Given the description of an element on the screen output the (x, y) to click on. 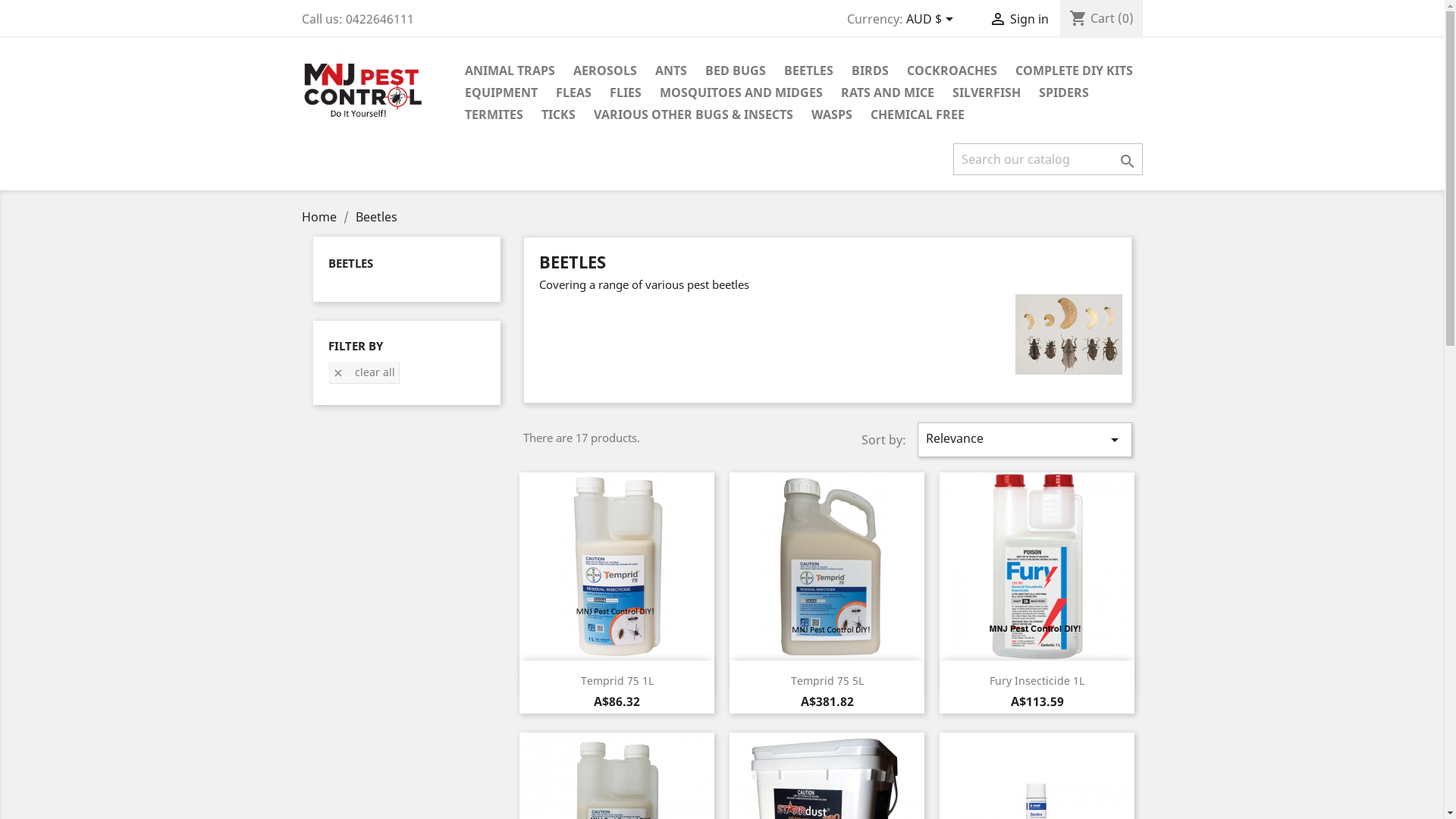
TICKS Element type: text (558, 115)
COMPLETE DIY KITS Element type: text (1073, 71)
BED BUGS Element type: text (735, 71)
WASPS Element type: text (831, 115)
Fury Insecticide 1L Element type: text (1036, 680)
EQUIPMENT Element type: text (500, 93)
Beetles Element type: text (375, 216)
Home Element type: text (320, 216)
SPIDERS Element type: text (1063, 93)
CHEMICAL FREE Element type: text (917, 115)
AEROSOLS Element type: text (604, 71)
VARIOUS OTHER BUGS & INSECTS Element type: text (692, 115)
RATS AND MICE Element type: text (886, 93)
COCKROACHES Element type: text (951, 71)
SILVERFISH Element type: text (986, 93)
FLEAS Element type: text (572, 93)
Temprid 75 1L Element type: text (616, 680)
Temprid 75 5L Element type: text (826, 680)
BEETLES Element type: text (349, 262)
BEETLES Element type: text (808, 71)
MOSQUITOES AND MIDGES Element type: text (741, 93)
TERMITES Element type: text (493, 115)
ANTS Element type: text (670, 71)
FLIES Element type: text (625, 93)
ANIMAL TRAPS Element type: text (508, 71)
BIRDS Element type: text (869, 71)
